Given the description of an element on the screen output the (x, y) to click on. 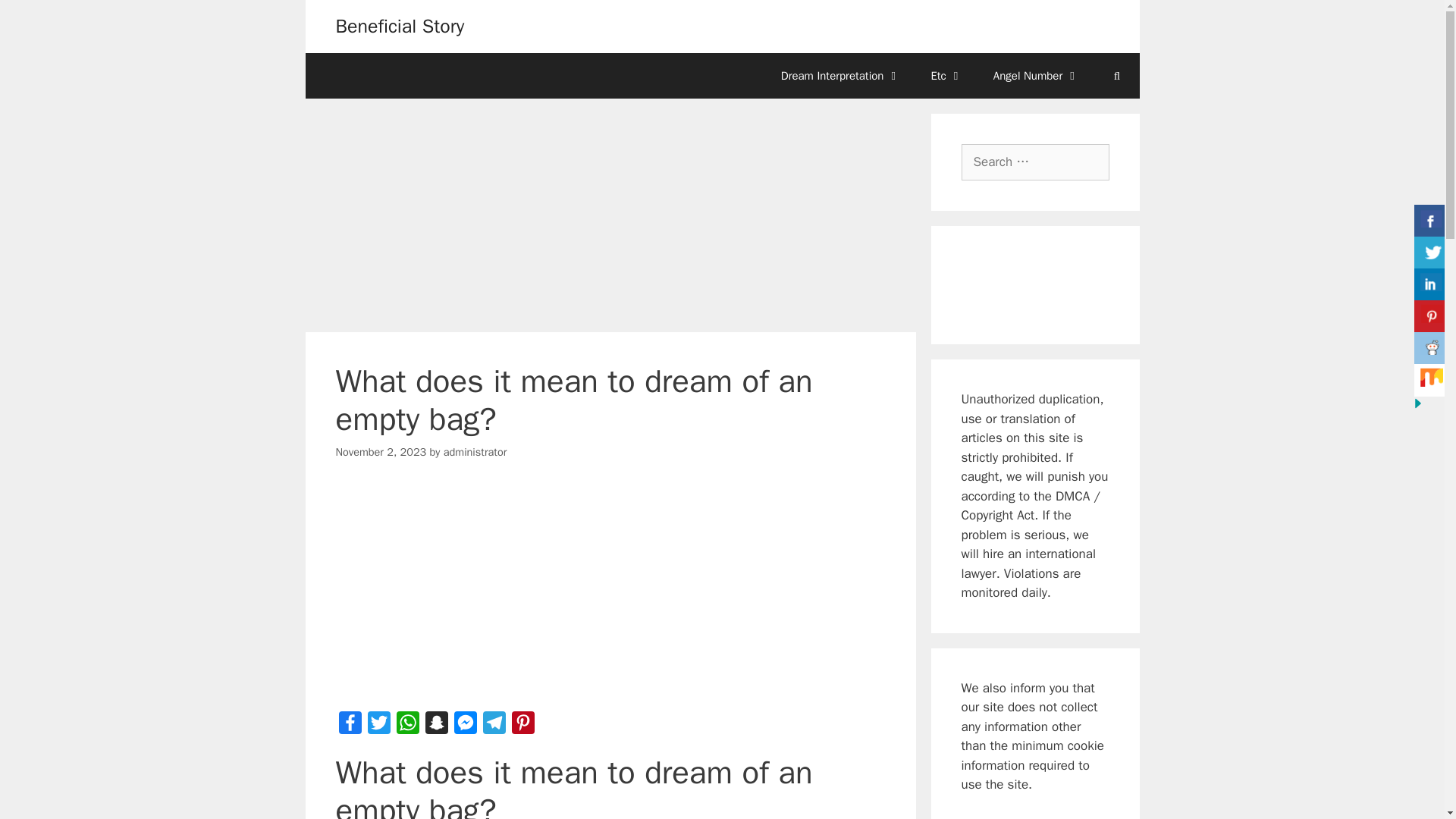
Angel Number (1036, 75)
Snapchat (435, 726)
Telegram (493, 726)
Dream Interpretation (840, 75)
WhatsApp (407, 726)
Pinterest (522, 726)
Telegram (493, 726)
Messenger (464, 726)
Twitter (378, 726)
Facebook (349, 726)
Etc (945, 75)
Advertisement (609, 592)
administrator (475, 451)
Facebook (349, 726)
Snapchat (435, 726)
